Given the description of an element on the screen output the (x, y) to click on. 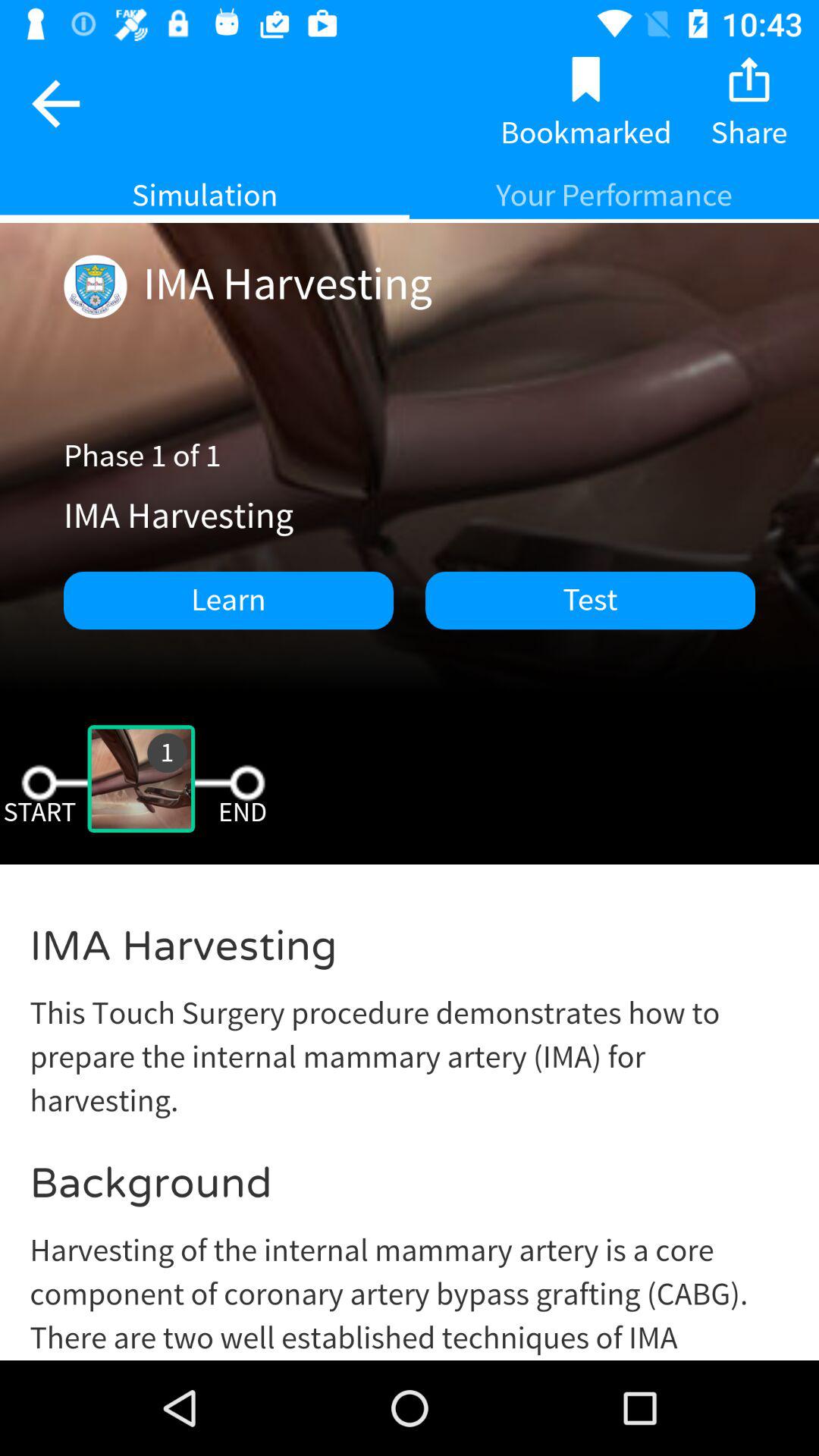
advertisement (409, 1124)
